Given the description of an element on the screen output the (x, y) to click on. 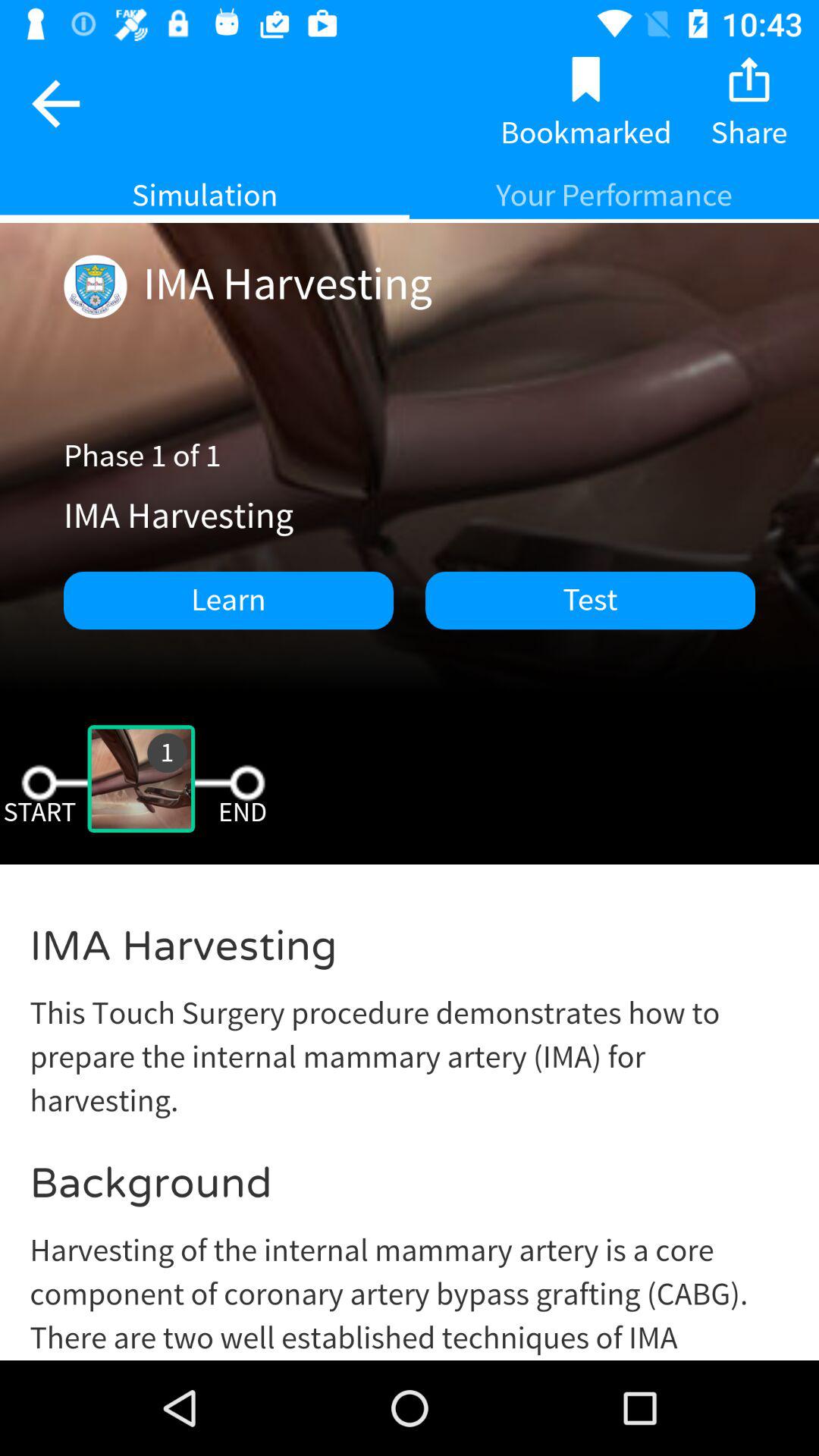
advertisement (409, 1124)
